Given the description of an element on the screen output the (x, y) to click on. 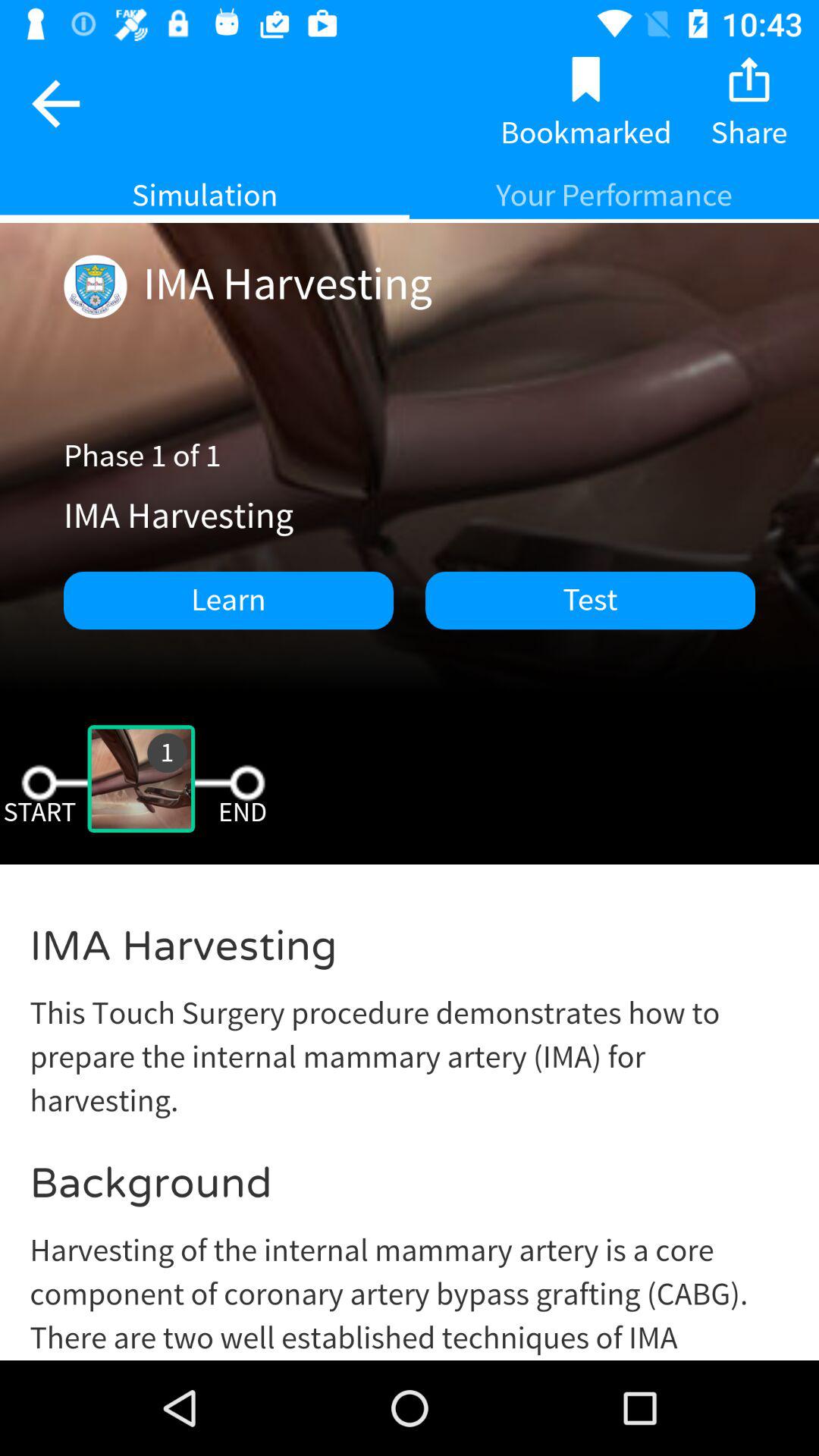
advertisement (409, 1124)
